Given the description of an element on the screen output the (x, y) to click on. 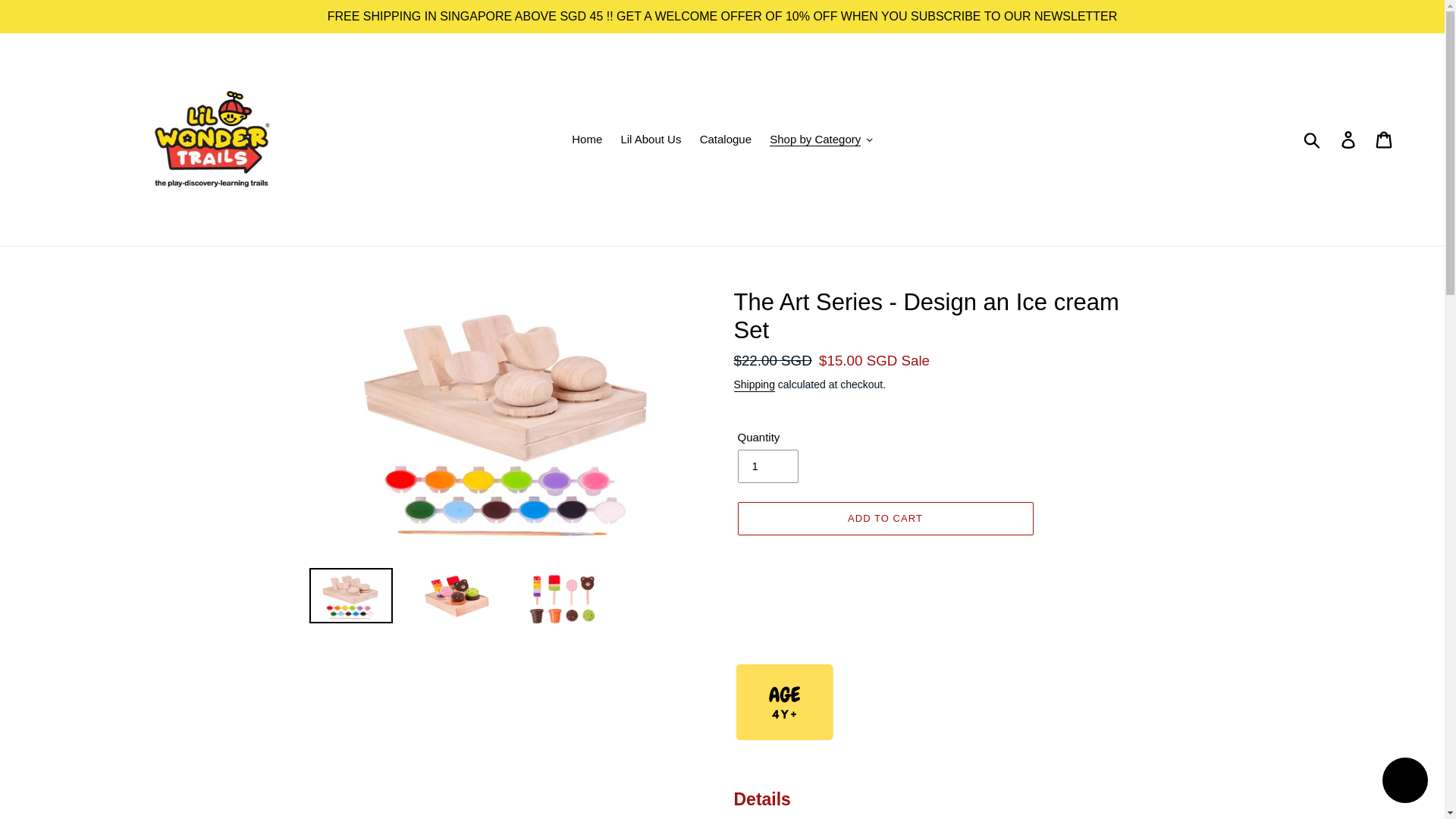
Submit (1313, 139)
1 (766, 466)
Lil About Us (650, 139)
Catalogue (725, 139)
Shopify online store chat (1404, 781)
Log in (1349, 139)
Home (587, 139)
